Given the description of an element on the screen output the (x, y) to click on. 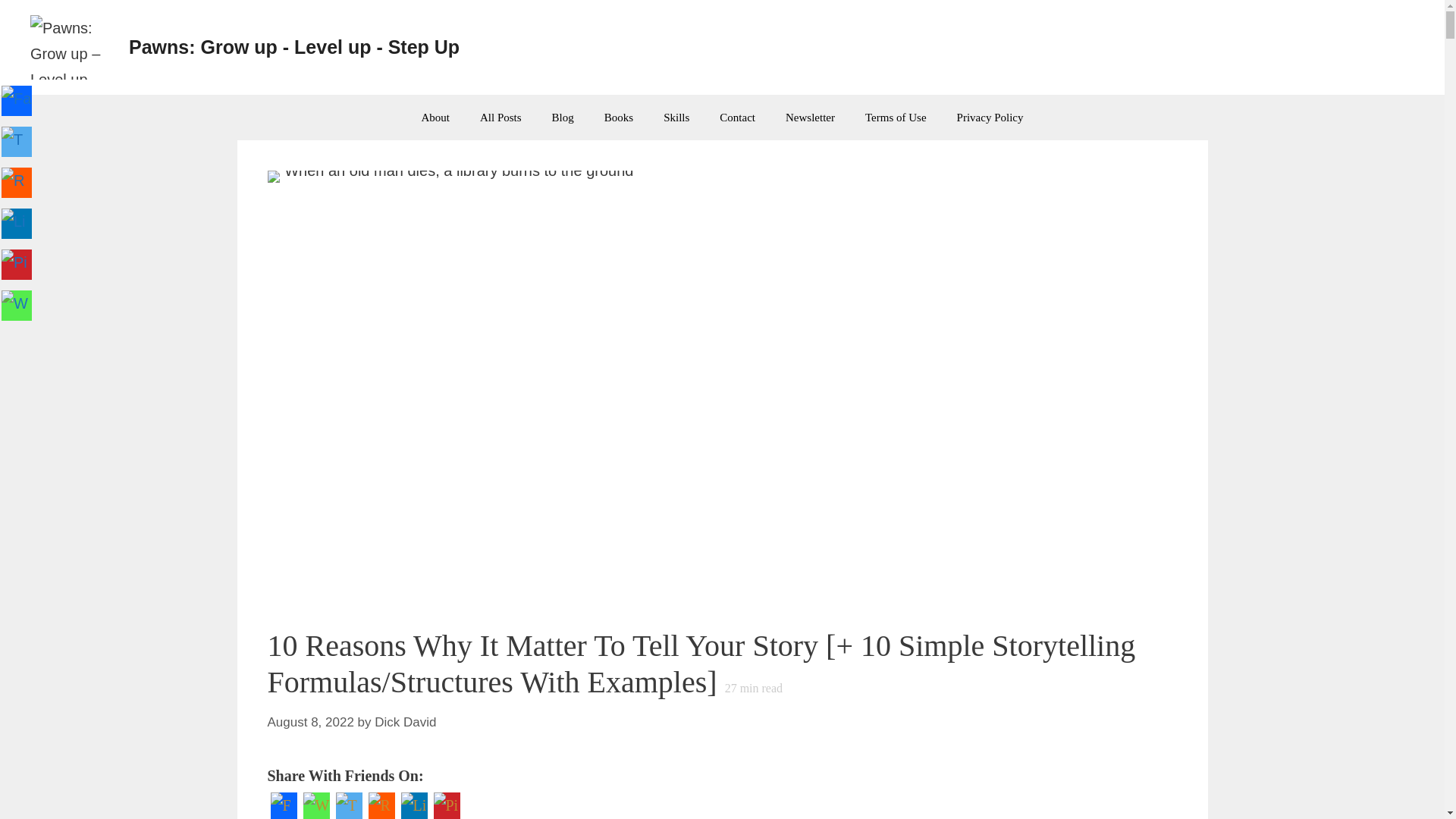
View all posts by Dick David (404, 721)
Linkedin (413, 805)
Privacy Policy (990, 117)
Newsletter (810, 117)
Facebook (282, 805)
Books (618, 117)
Dick David (404, 721)
Blog (563, 117)
Skills (675, 117)
Pawns: Grow up - Level up - Step Up (294, 46)
Contact (737, 117)
Pinterest (446, 805)
About (435, 117)
Reddit (381, 805)
Terms of Use (896, 117)
